Given the description of an element on the screen output the (x, y) to click on. 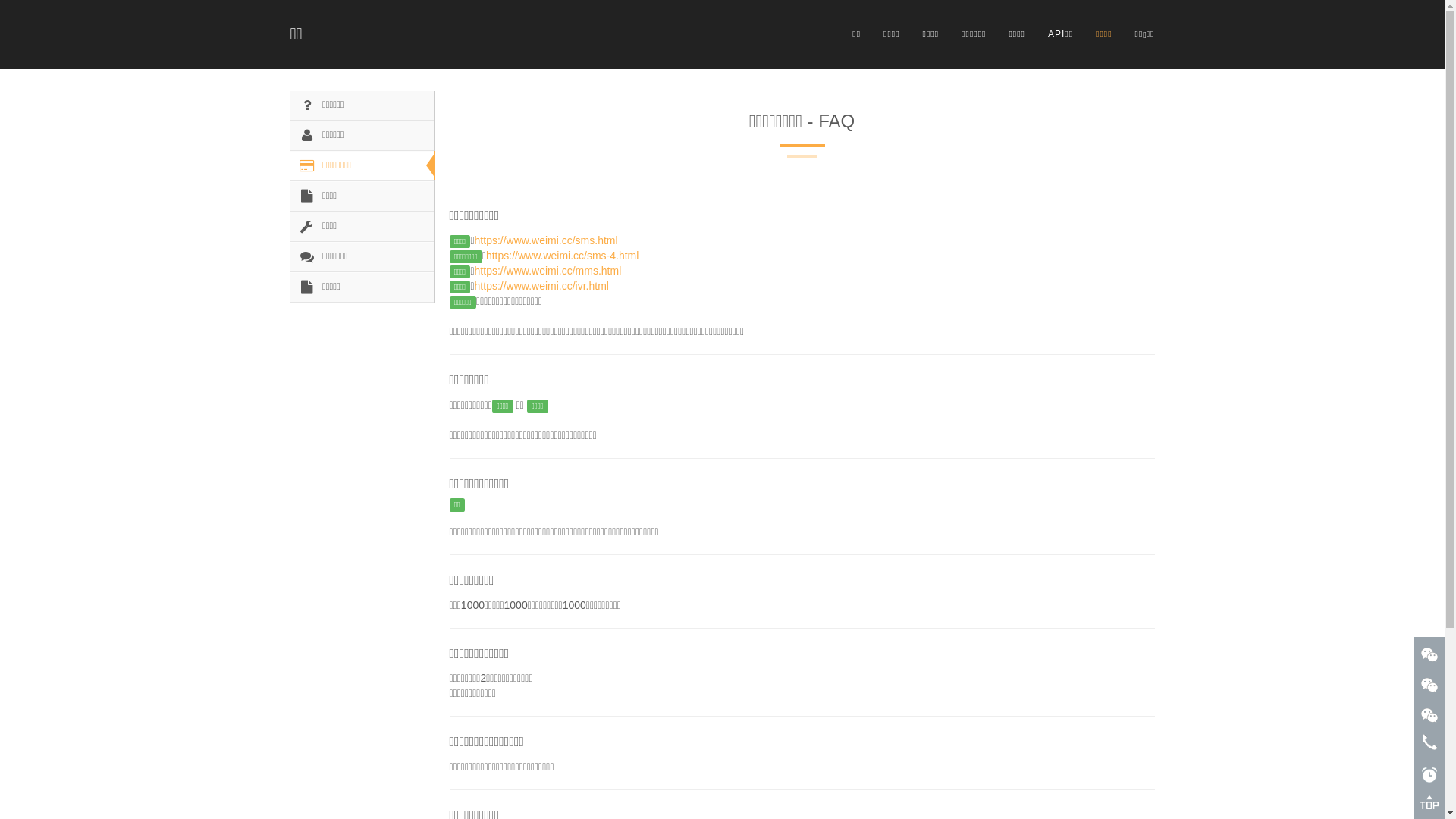
https://www.weimi.cc/ivr.html Element type: text (541, 285)
https://www.weimi.cc/sms-4.html Element type: text (562, 255)
https://www.weimi.cc/sms.html Element type: text (546, 240)
https://www.weimi.cc/mms.html Element type: text (547, 270)
